Given the description of an element on the screen output the (x, y) to click on. 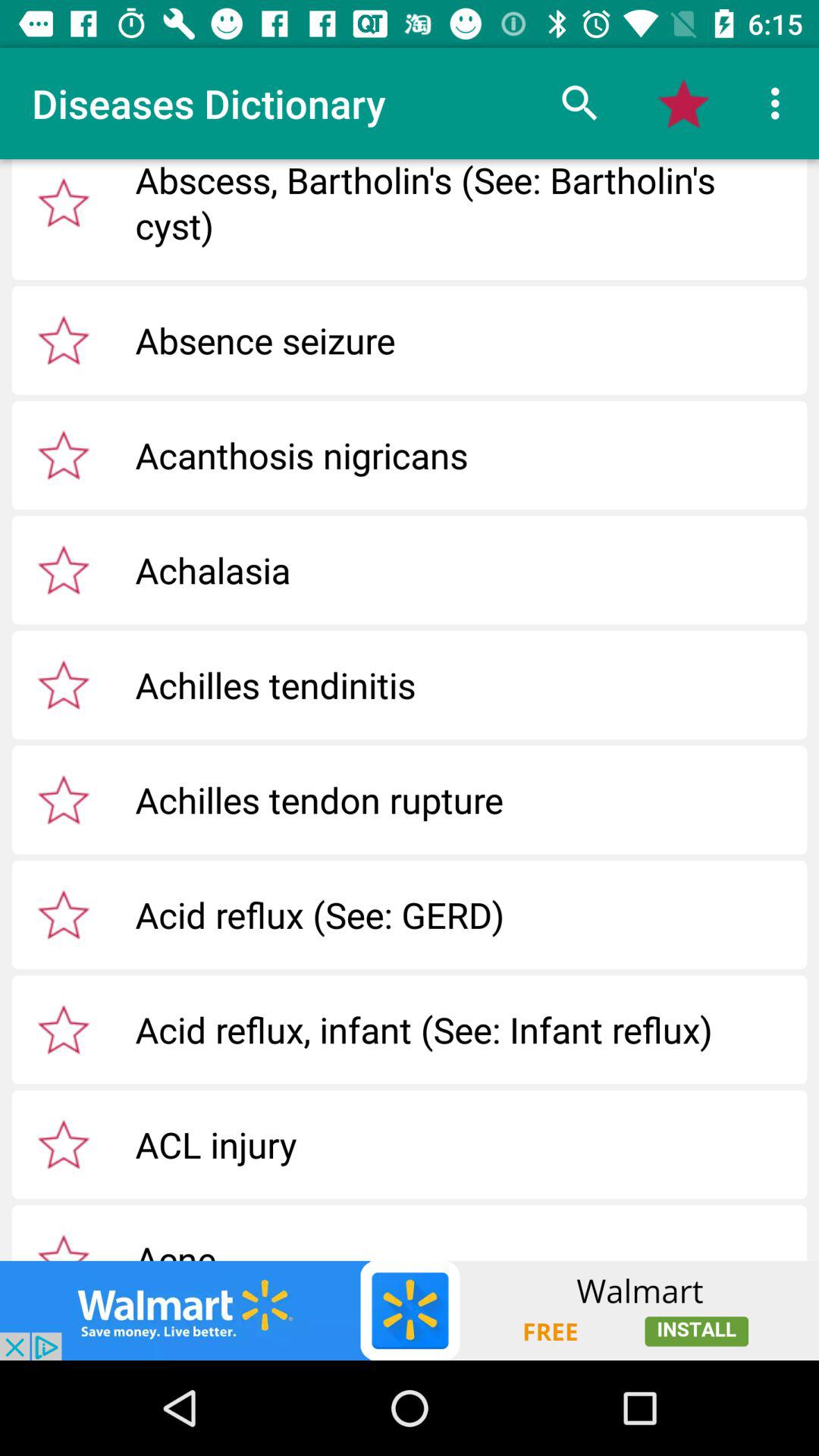
like (63, 202)
